Given the description of an element on the screen output the (x, y) to click on. 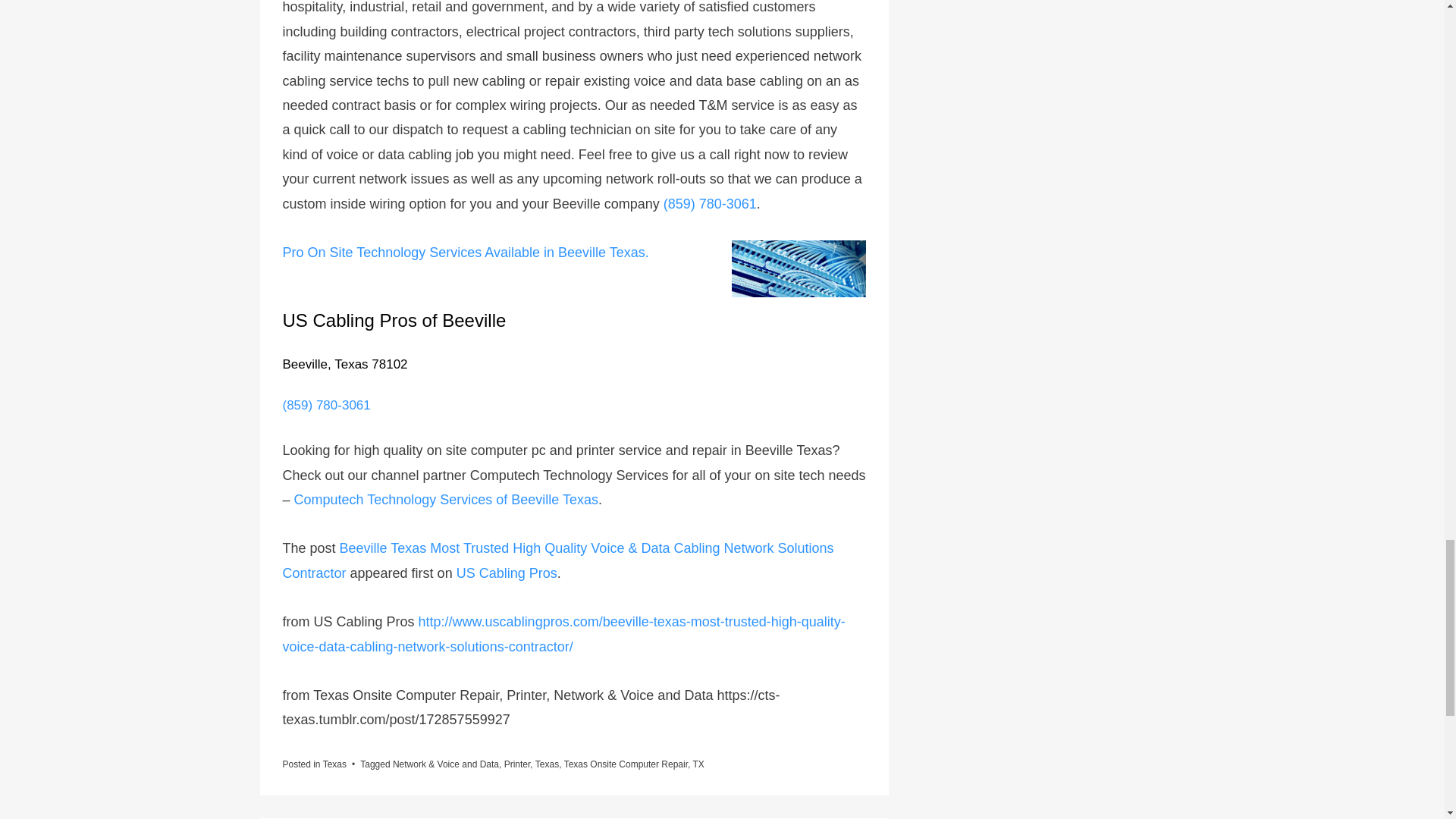
Texas Onsite Computer Repair (625, 764)
Computech Technology Services of Beeville Texas (446, 499)
Pro On Site Technology Services Available in Beeville Texas. (464, 252)
Texas (334, 764)
US Cabling Pros (507, 572)
Printer (517, 764)
Texas (547, 764)
TX (698, 764)
